Given the description of an element on the screen output the (x, y) to click on. 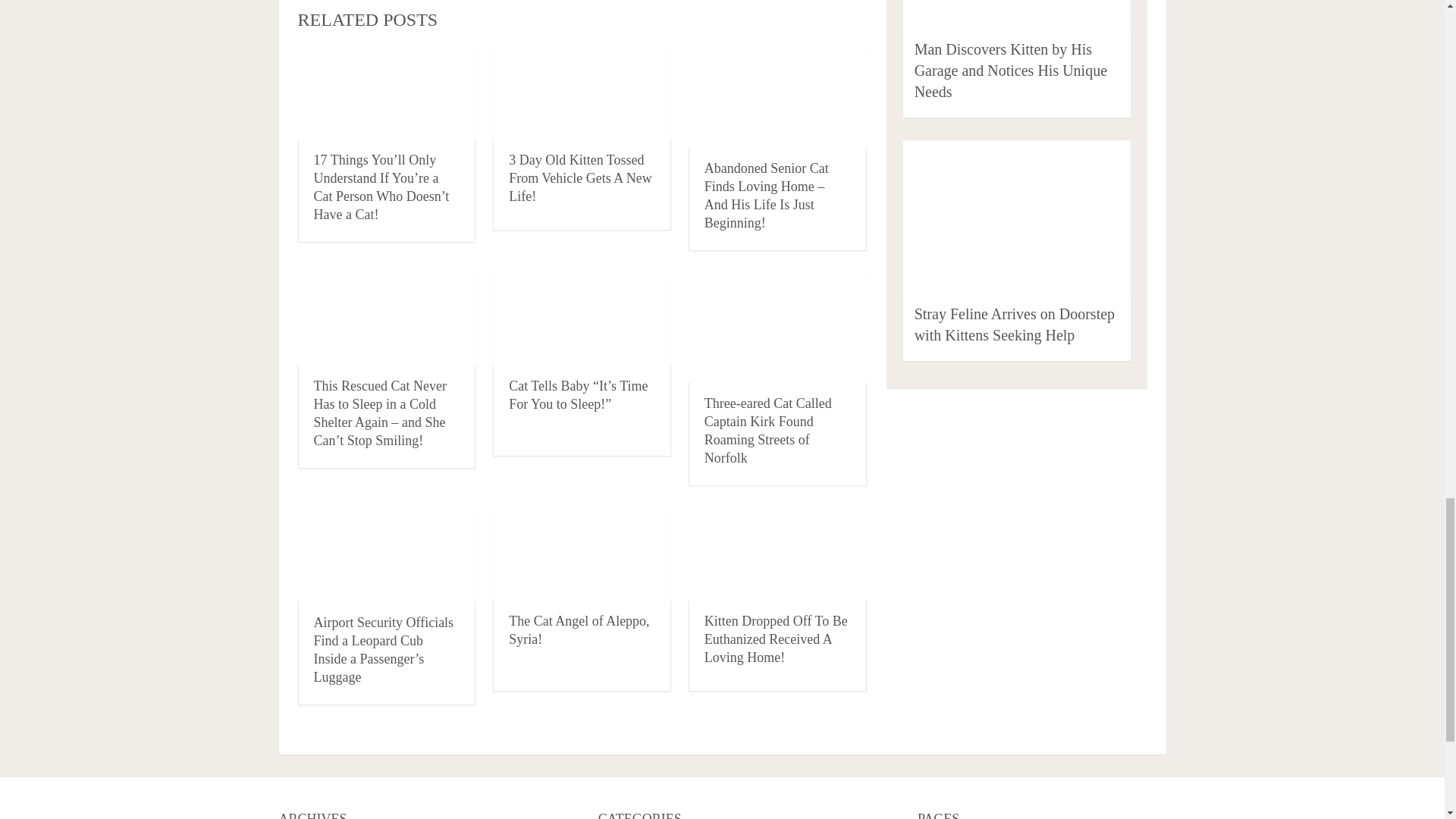
3 Day Old Kitten Tossed From Vehicle Gets A New Life! (580, 177)
3 Day Old Kitten Tossed From Vehicle Gets A New Life! (582, 93)
3 Day Old Kitten Tossed From Vehicle Gets A New Life! (580, 177)
The Cat Angel of Aleppo, Syria! (578, 630)
Kitten Dropped Off To Be Euthanized Received A Loving Home! (775, 639)
